Given the description of an element on the screen output the (x, y) to click on. 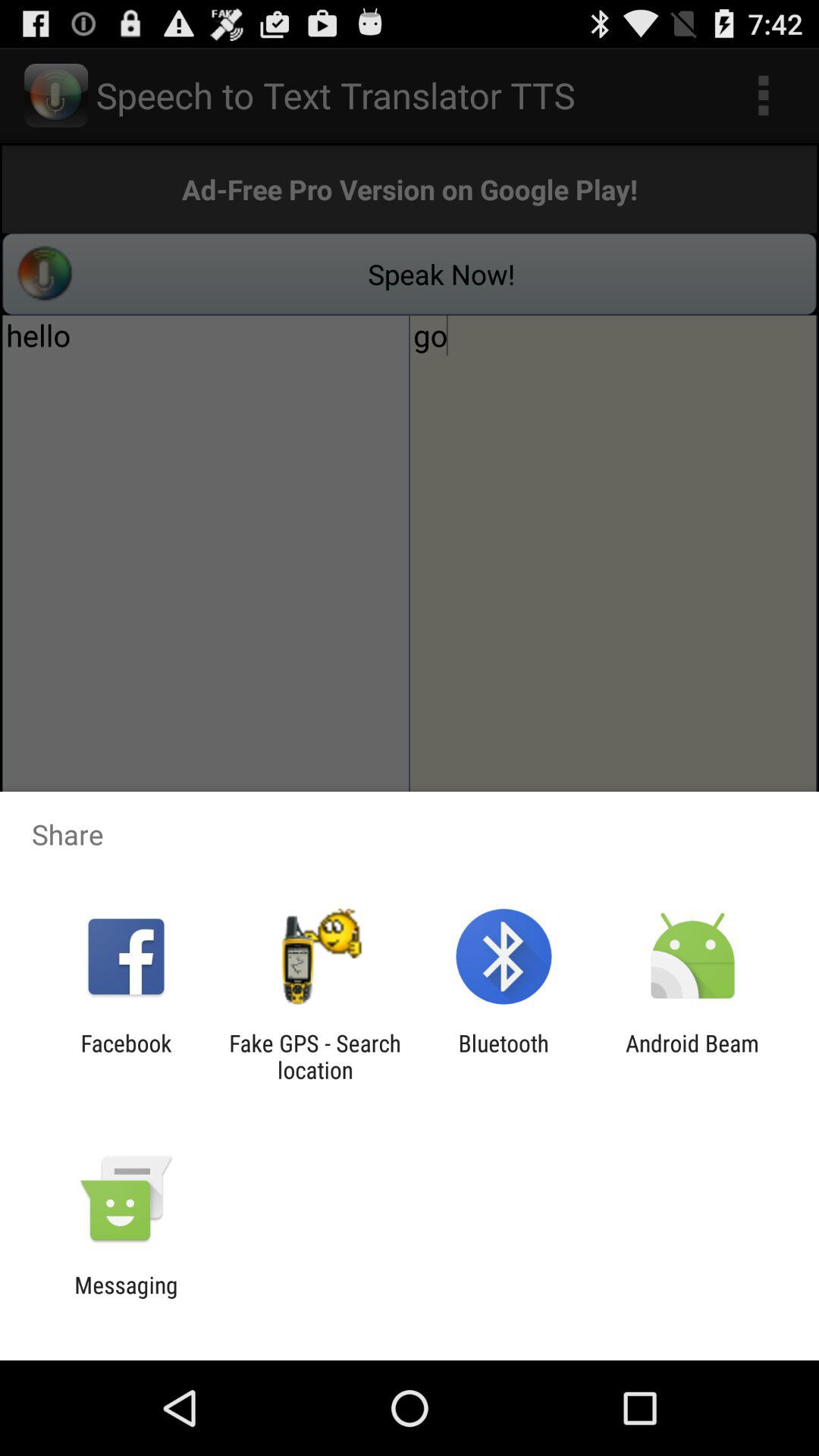
swipe until the android beam (692, 1056)
